Given the description of an element on the screen output the (x, y) to click on. 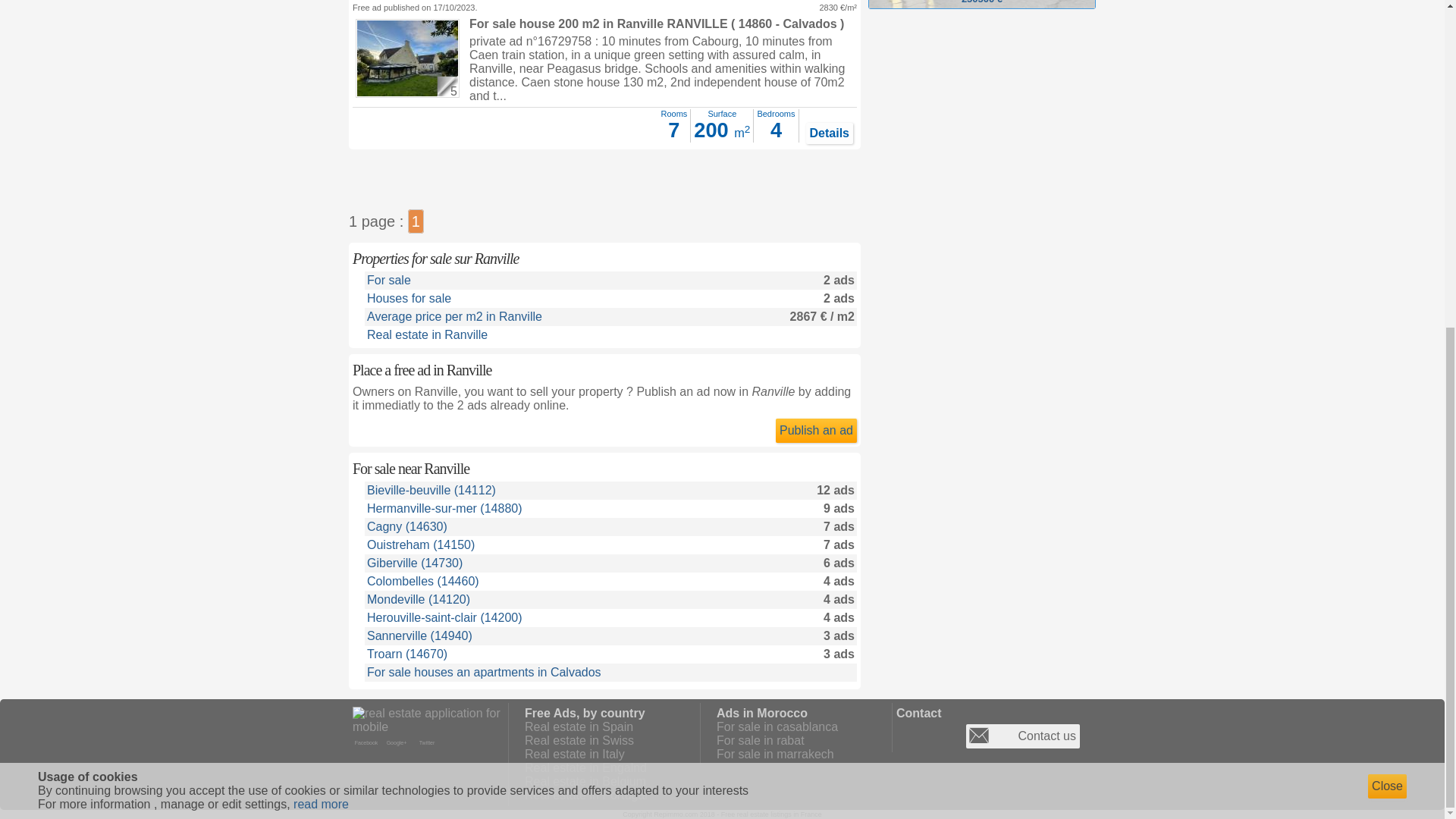
For sale (388, 279)
repimmo sur twitter (428, 742)
Houses for sale (408, 297)
Average price per m2 in Ranville (453, 316)
Real estate in Ranville (426, 334)
Publish an ad (816, 430)
5 photos (445, 84)
